Given the description of an element on the screen output the (x, y) to click on. 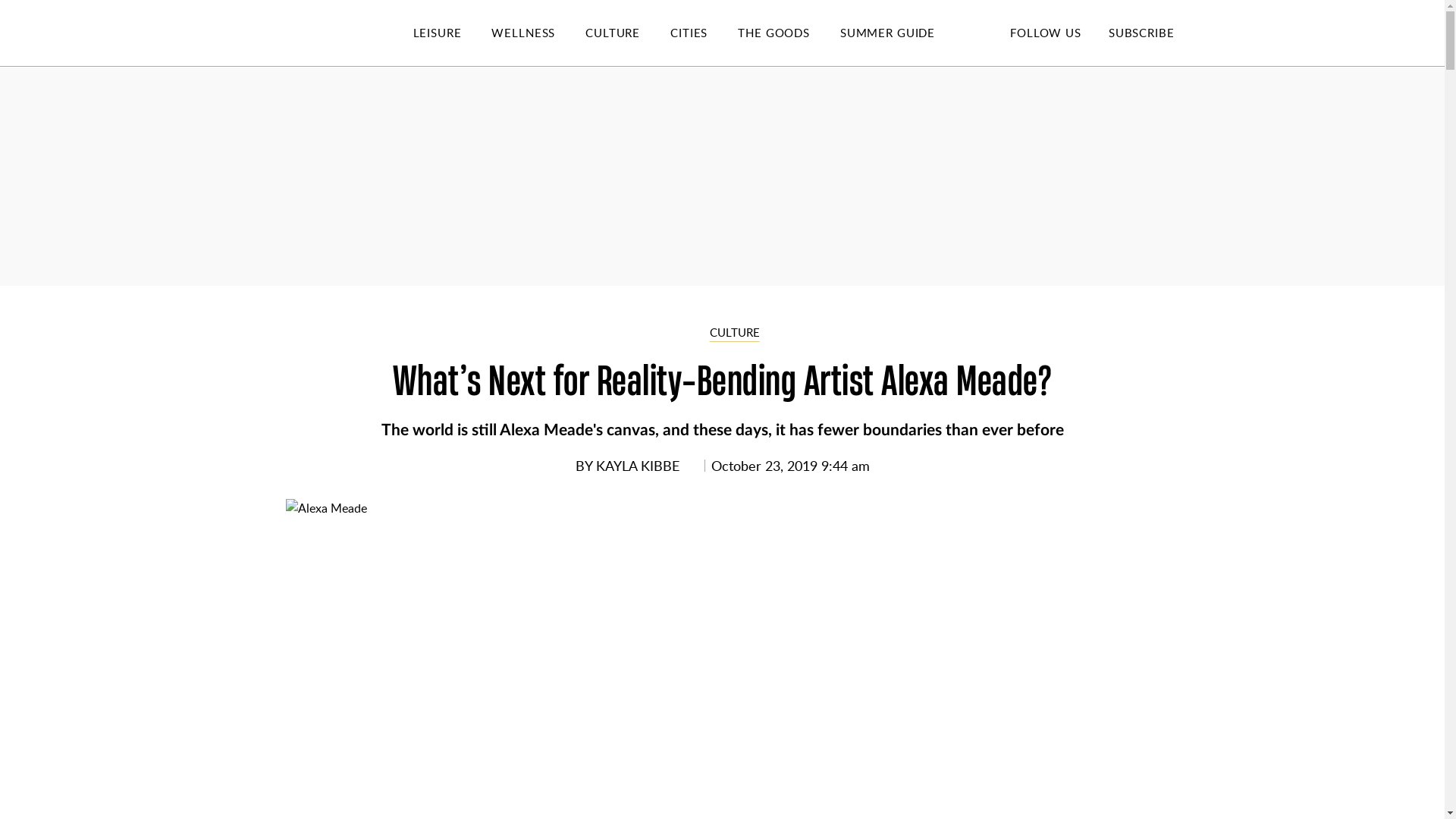
FOLLOW US (1045, 32)
CITIES (703, 32)
LEISURE (452, 32)
THE GOODS (789, 32)
CULTURE (627, 32)
SUMMER GUIDE (902, 32)
WELLNESS (538, 32)
SUBSCRIBE (1141, 31)
